Given the description of an element on the screen output the (x, y) to click on. 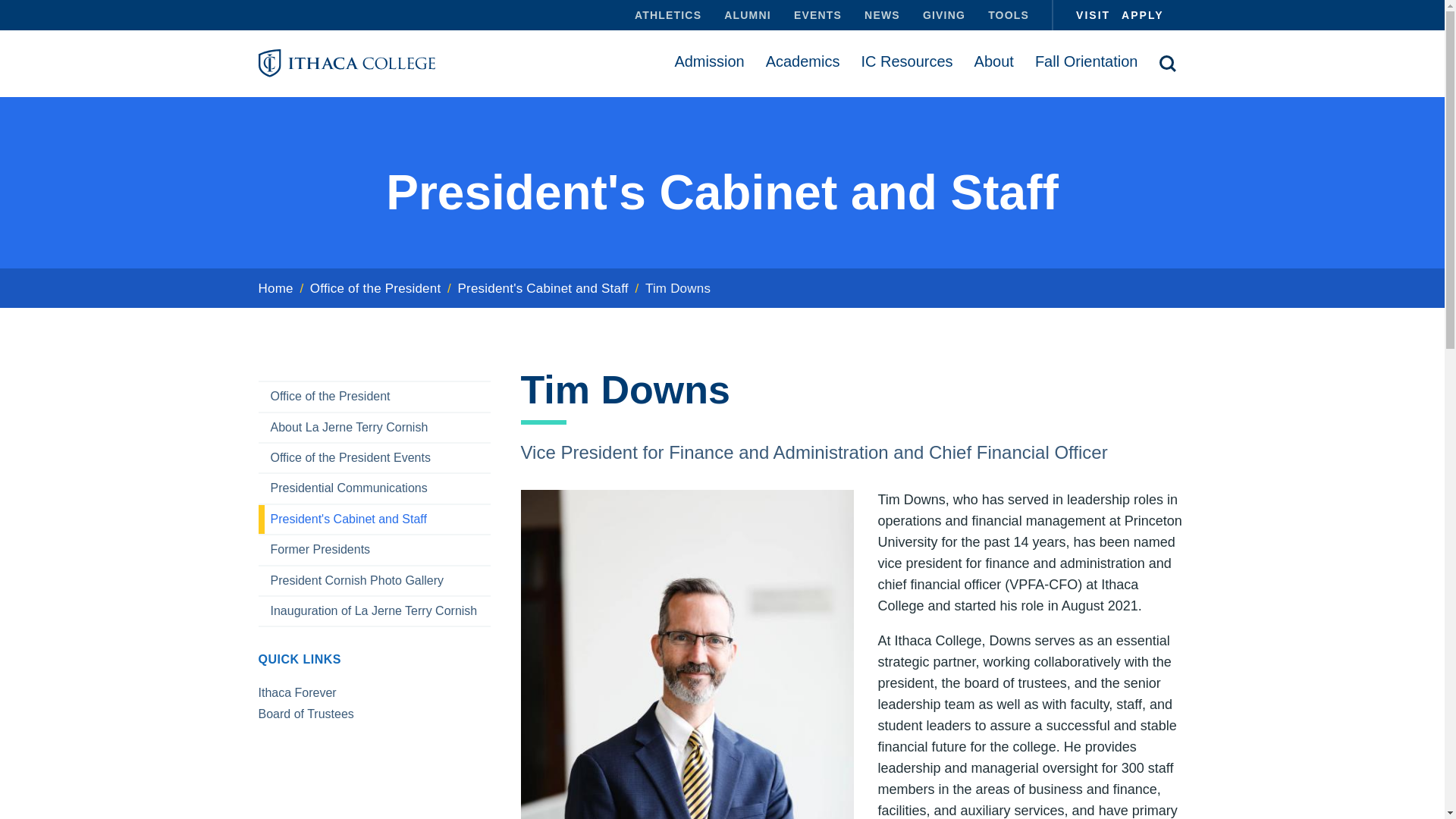
ATHLETICS (668, 15)
President's Cabinet and Staff (543, 288)
VISIT (1080, 15)
Office of the President (375, 288)
Home (274, 288)
IC Resources (906, 61)
Academics (802, 61)
Admission (708, 61)
About (994, 61)
Fall Orientation (1086, 61)
ALUMNI (748, 15)
TOOLS (1002, 15)
EVENTS (818, 15)
APPLY (1136, 15)
